Given the description of an element on the screen output the (x, y) to click on. 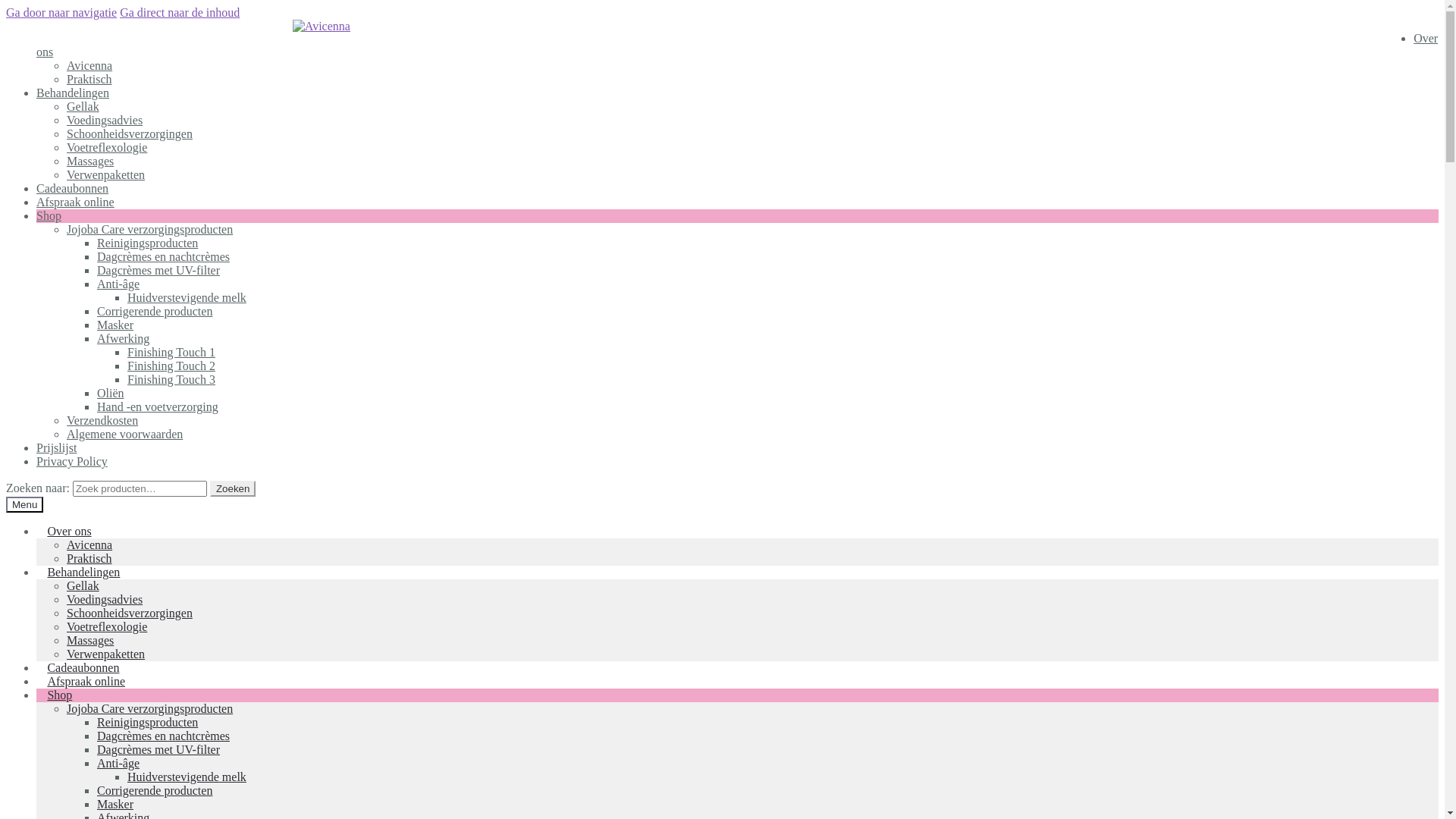
Voedingsadvies Element type: text (104, 599)
Schoonheidsverzorgingen Element type: text (129, 612)
Behandelingen Element type: text (83, 571)
Voedingsadvies Element type: text (104, 119)
Schoonheidsverzorgingen Element type: text (129, 133)
Praktisch Element type: text (89, 558)
Avicenna Element type: text (89, 65)
Zoeken Element type: text (232, 488)
Masker Element type: text (115, 324)
Over ons Element type: text (736, 44)
Finishing Touch 2 Element type: text (171, 365)
Reinigingsproducten Element type: text (147, 721)
Verwenpaketten Element type: text (105, 653)
Avicenna Element type: text (89, 544)
Afspraak online Element type: text (85, 680)
Massages Element type: text (89, 639)
Menu Element type: text (24, 504)
Afspraak online Element type: text (75, 201)
Gellak Element type: text (82, 106)
Masker Element type: text (115, 803)
Over ons Element type: text (69, 530)
Jojoba Care verzorgingsproducten Element type: text (149, 708)
Huidverstevigende melk Element type: text (186, 776)
Cadeaubonnen Element type: text (72, 188)
Finishing Touch 3 Element type: text (171, 379)
Hand -en voetverzorging Element type: text (157, 406)
Cadeaubonnen Element type: text (83, 667)
Voetreflexologie Element type: text (106, 147)
Reinigingsproducten Element type: text (147, 242)
Algemene voorwaarden Element type: text (124, 433)
Afwerking Element type: text (123, 338)
Voetreflexologie Element type: text (106, 626)
Shop Element type: text (59, 694)
Finishing Touch 1 Element type: text (171, 351)
Jojoba Care verzorgingsproducten Element type: text (149, 228)
Corrigerende producten Element type: text (154, 310)
Verzendkosten Element type: text (102, 420)
Ga door naar navigatie Element type: text (61, 12)
Ga direct naar de inhoud Element type: text (179, 12)
Verwenpaketten Element type: text (105, 174)
Praktisch Element type: text (89, 78)
Privacy Policy Element type: text (71, 461)
Corrigerende producten Element type: text (154, 790)
Huidverstevigende melk Element type: text (186, 297)
Massages Element type: text (89, 160)
Behandelingen Element type: text (72, 92)
Prijslijst Element type: text (56, 447)
Gellak Element type: text (82, 585)
Shop Element type: text (48, 215)
